Given the description of an element on the screen output the (x, y) to click on. 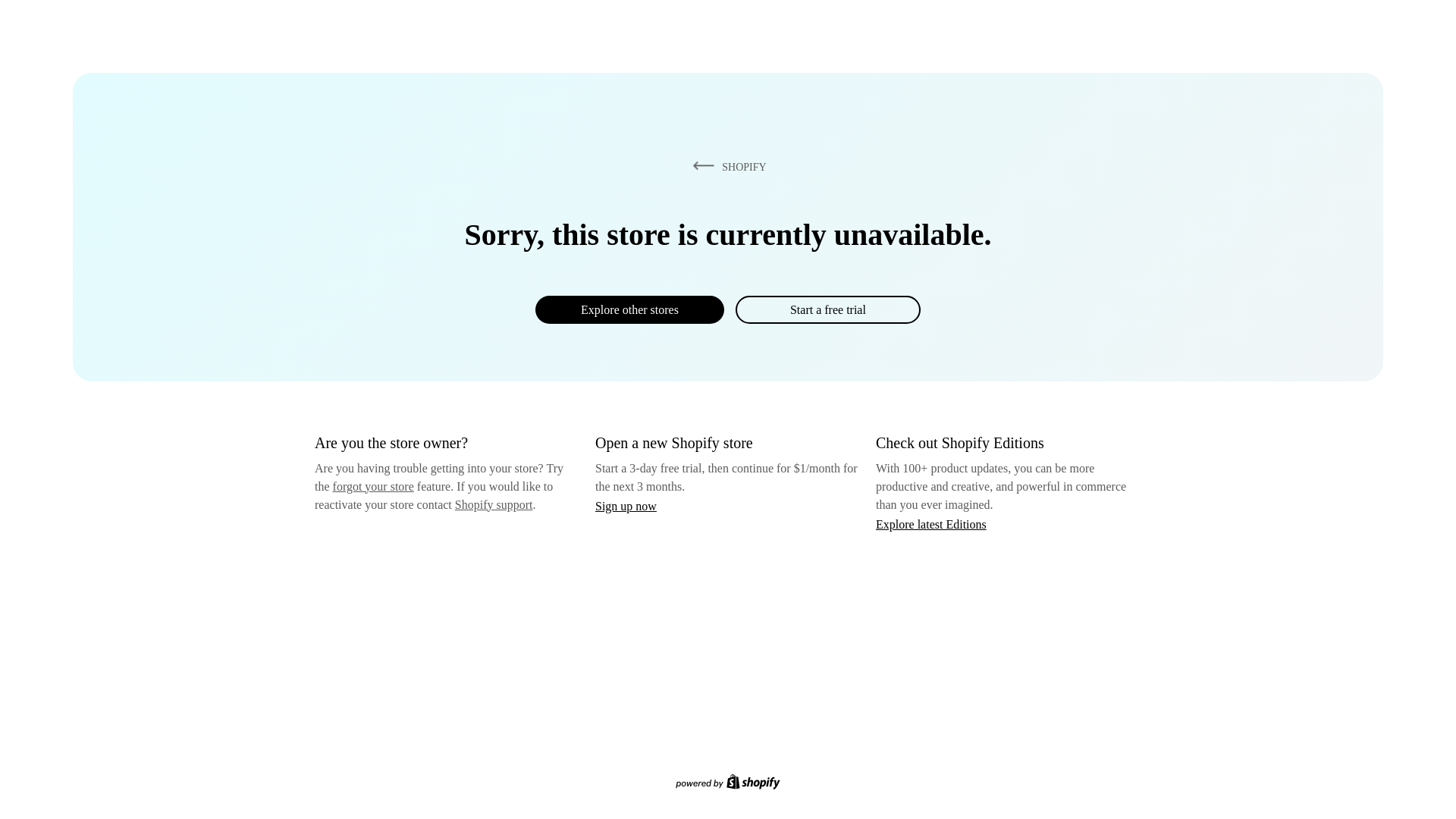
Explore other stores (629, 309)
forgot your store (373, 486)
Sign up now (625, 505)
Explore latest Editions (931, 523)
SHOPIFY (726, 166)
Start a free trial (827, 309)
Shopify support (493, 504)
